Given the description of an element on the screen output the (x, y) to click on. 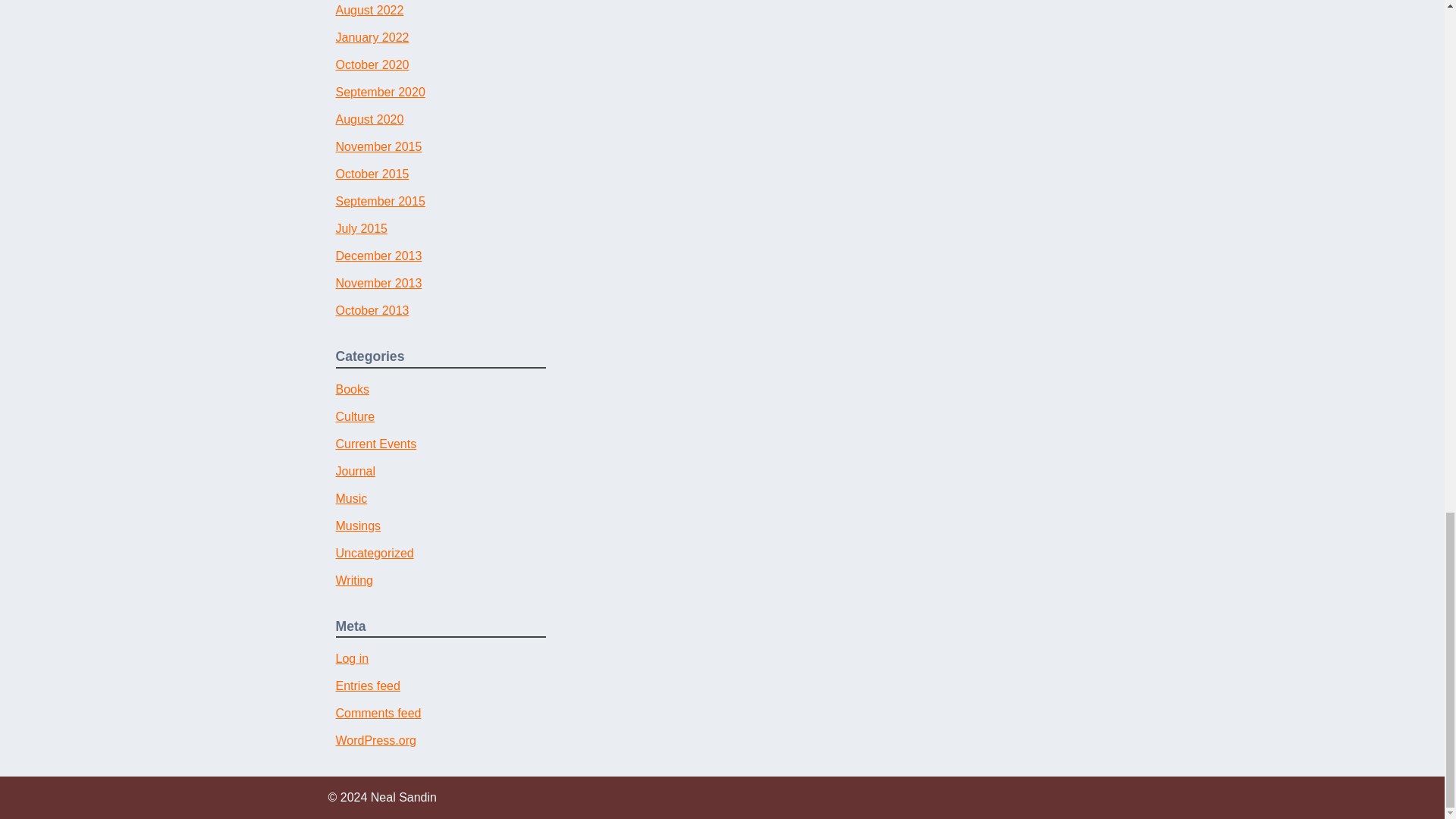
December 2013 (378, 255)
November 2015 (378, 146)
September 2015 (379, 201)
Culture (354, 416)
August 2020 (368, 119)
July 2015 (360, 228)
September 2020 (379, 91)
August 2022 (368, 10)
October 2015 (371, 173)
Books (351, 389)
